Given the description of an element on the screen output the (x, y) to click on. 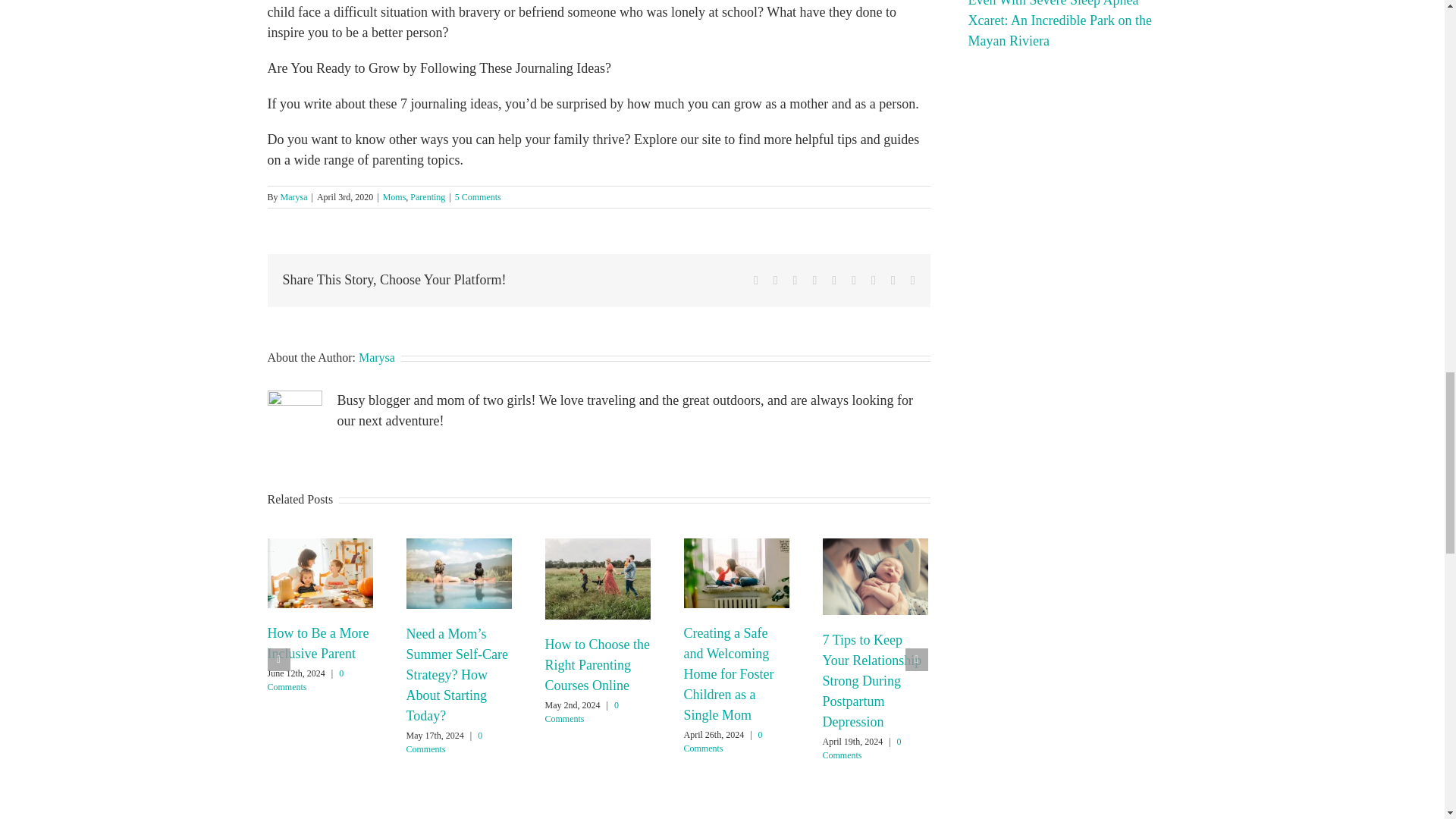
Posts by Marysa (294, 195)
